Given the description of an element on the screen output the (x, y) to click on. 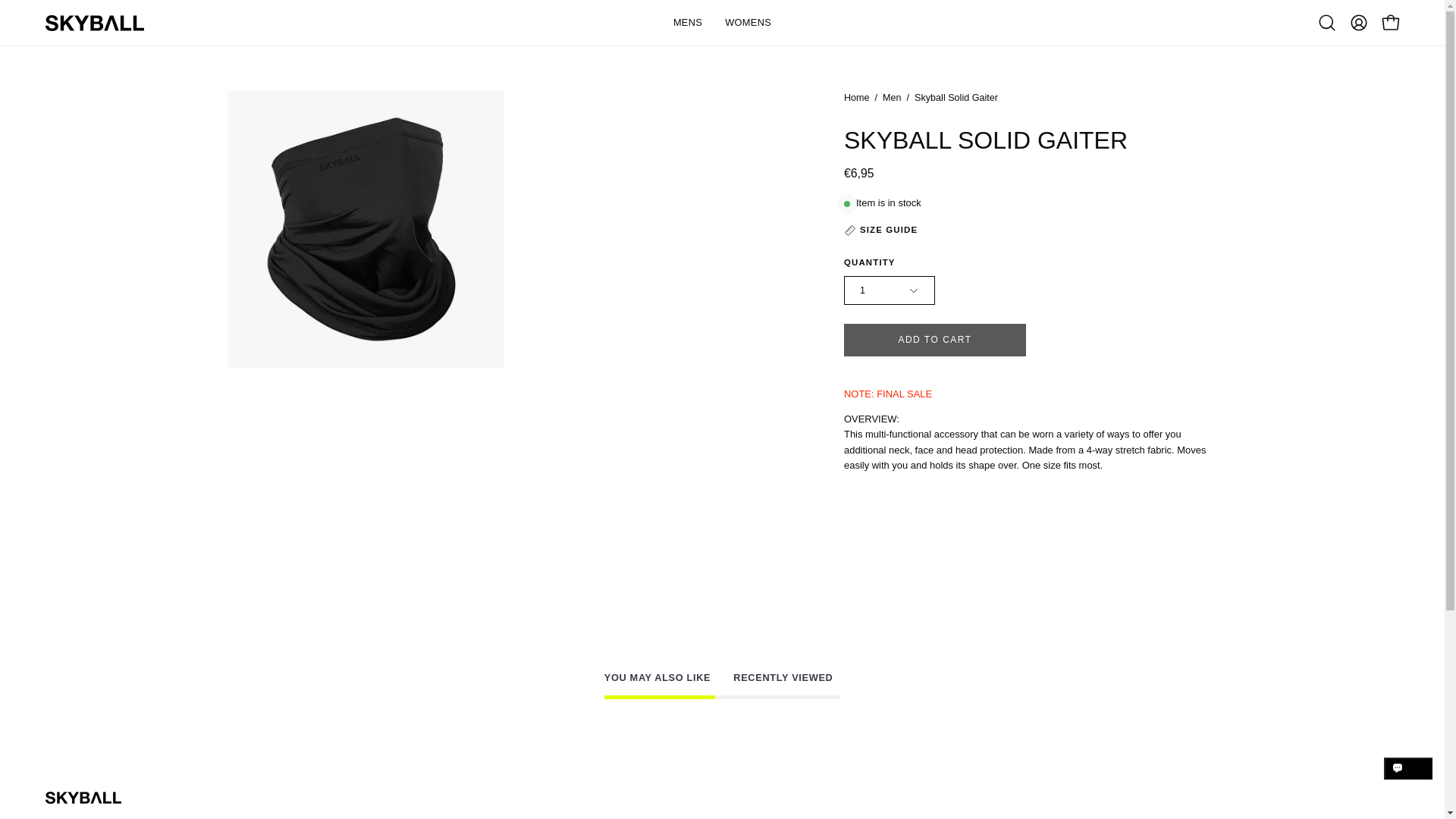
Open search bar (1326, 22)
Go back to Home page (722, 687)
